Given the description of an element on the screen output the (x, y) to click on. 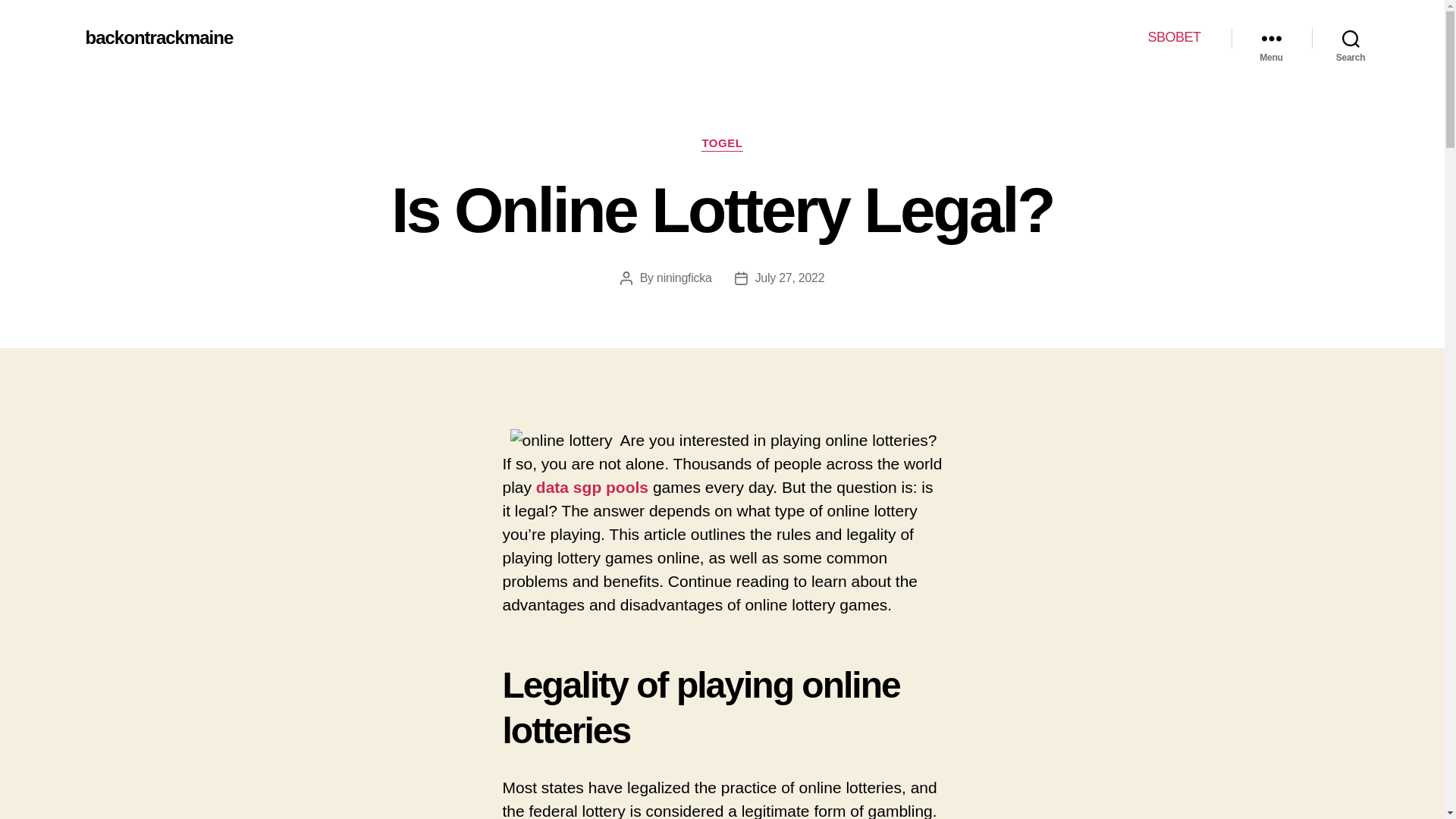
TOGEL (721, 143)
data sgp pools (591, 487)
niningficka (683, 277)
Search (1350, 37)
Menu (1271, 37)
July 27, 2022 (790, 277)
SBOBET (1173, 37)
backontrackmaine (158, 37)
